Given the description of an element on the screen output the (x, y) to click on. 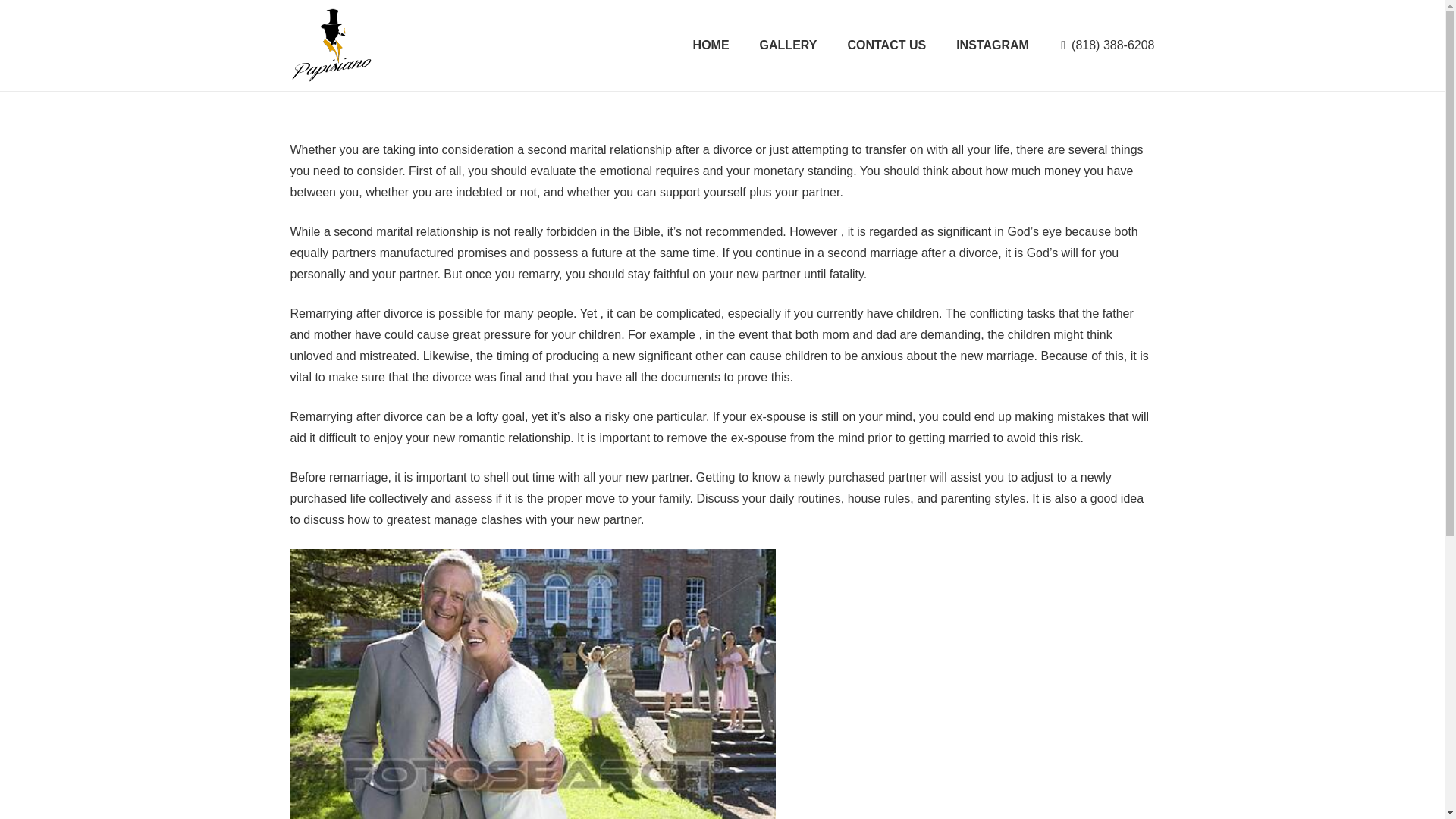
INSTAGRAM (991, 45)
CONTACT US (885, 45)
GALLERY (788, 45)
